Given the description of an element on the screen output the (x, y) to click on. 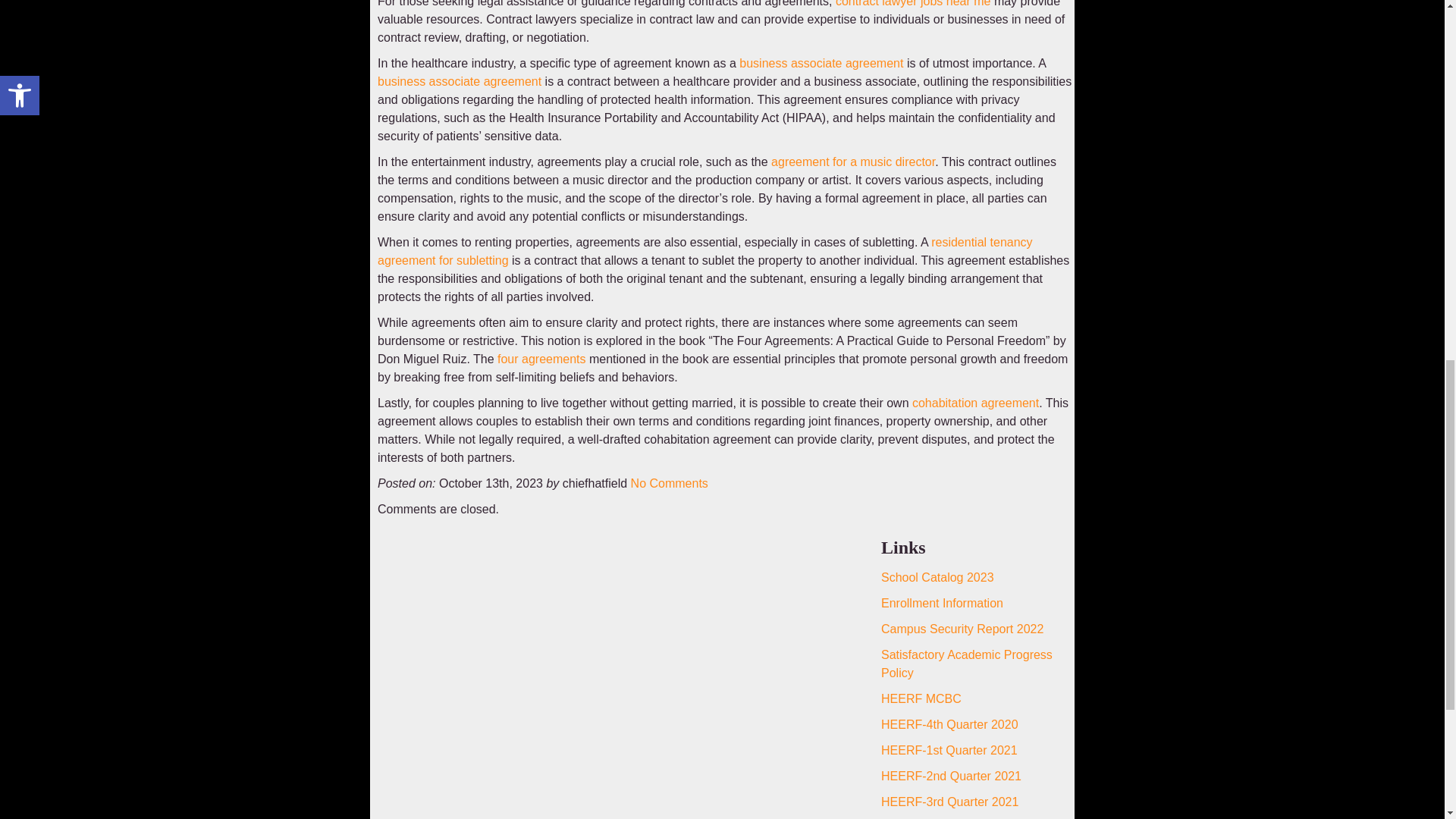
four agreements (541, 358)
School Catalog 2023 (937, 576)
No Comments (668, 482)
Campus Security Report 2022 (961, 628)
business associate agreement (459, 81)
agreement for a music director (852, 161)
contract lawyer jobs near me (913, 3)
Satisfactory Academic Progress Policy (966, 663)
Enrollment Information (941, 603)
business associate agreement (820, 62)
cohabitation agreement (975, 402)
residential tenancy agreement for subletting (704, 250)
